Given the description of an element on the screen output the (x, y) to click on. 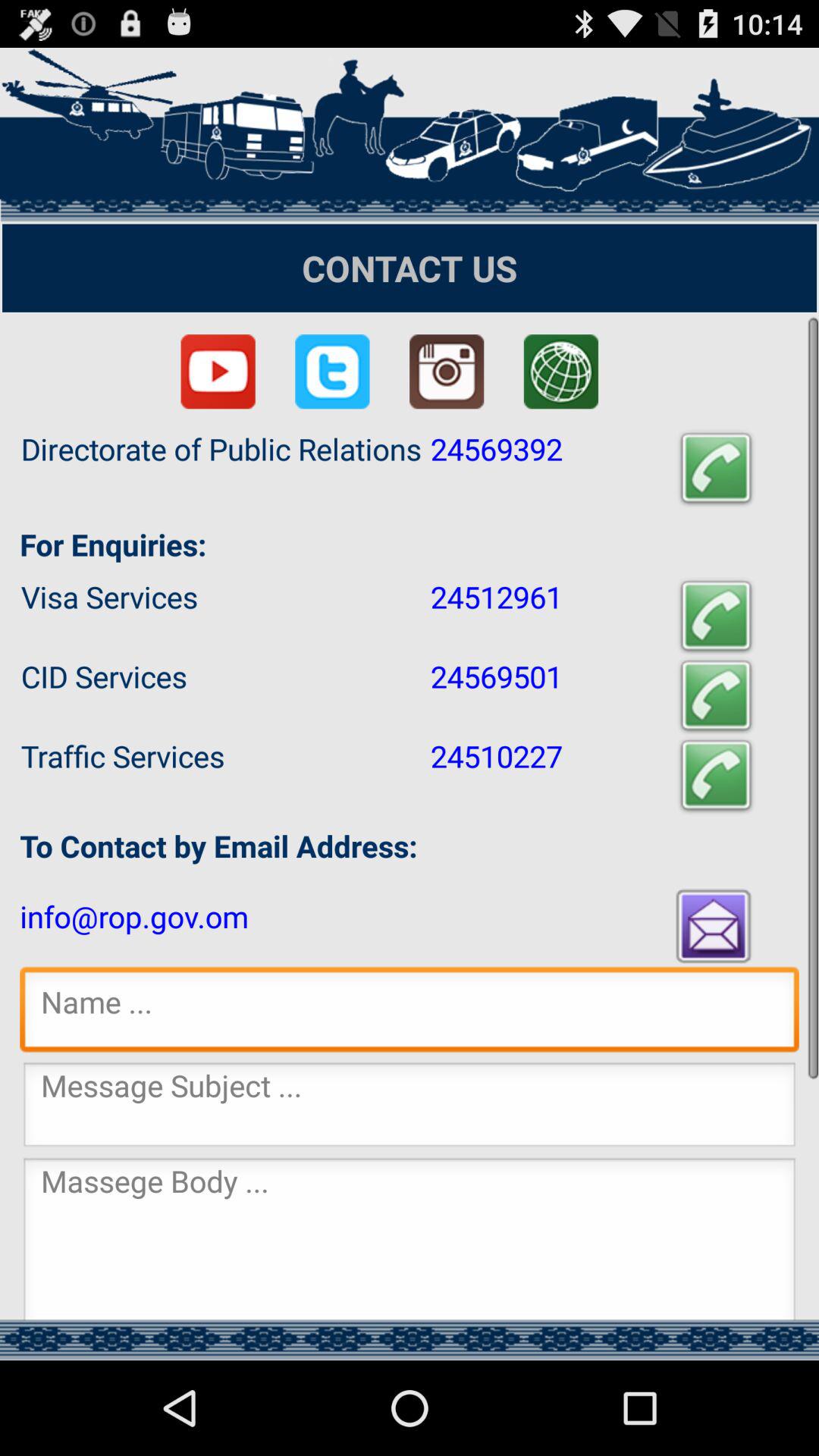
choose icon above the 24569501 item (716, 616)
